Given the description of an element on the screen output the (x, y) to click on. 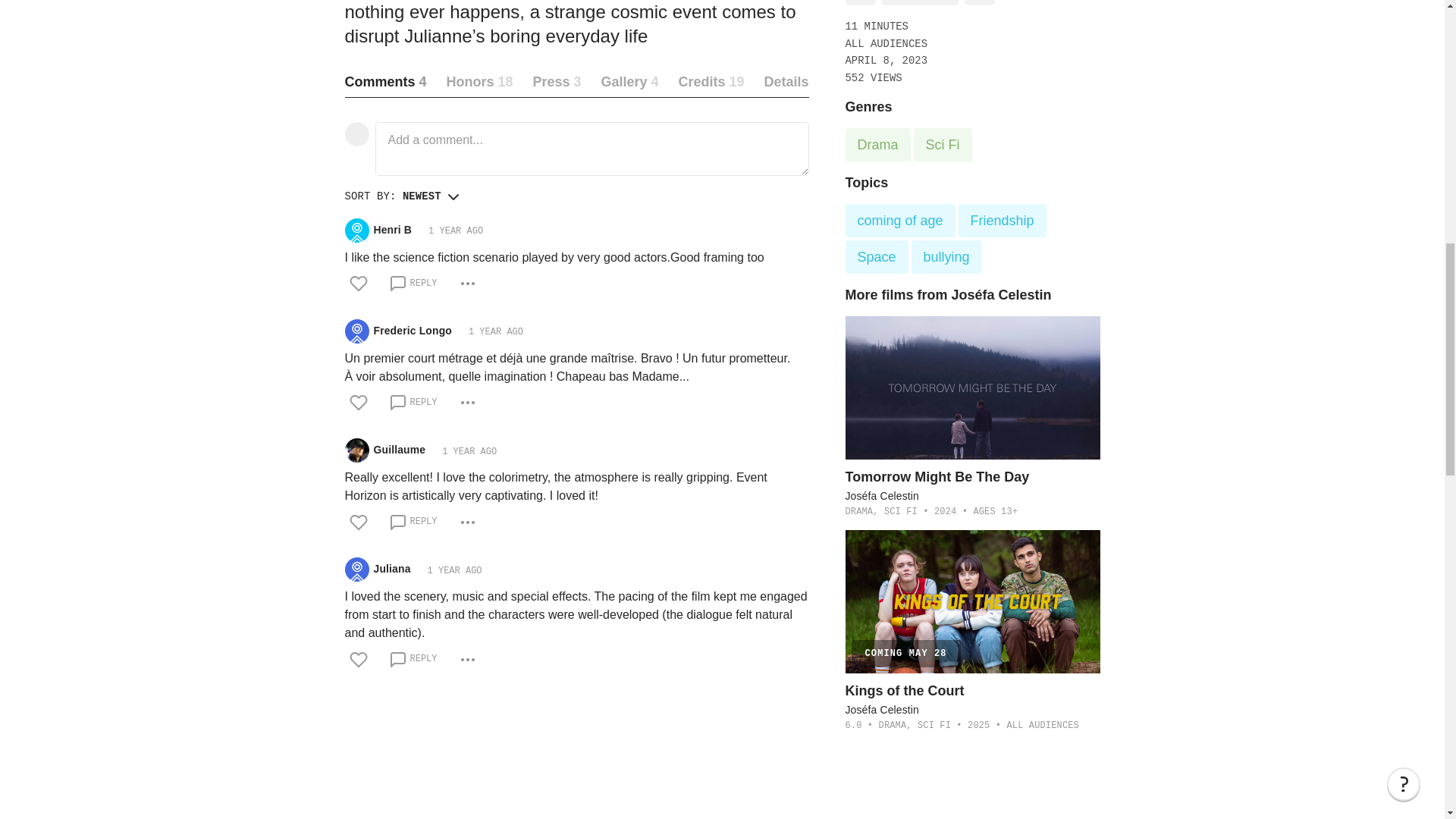
Honors 18 (478, 81)
Guillaume (398, 450)
Press 3 (556, 81)
View Profile (392, 230)
Henri B (392, 230)
REPLY (412, 283)
Details (785, 81)
View Profile (355, 331)
Credits 19 (711, 81)
Gallery 4 (628, 81)
Comments 4 (384, 81)
Frederic Longo (411, 330)
View Profile (355, 230)
REPLY (412, 403)
